Given the description of an element on the screen output the (x, y) to click on. 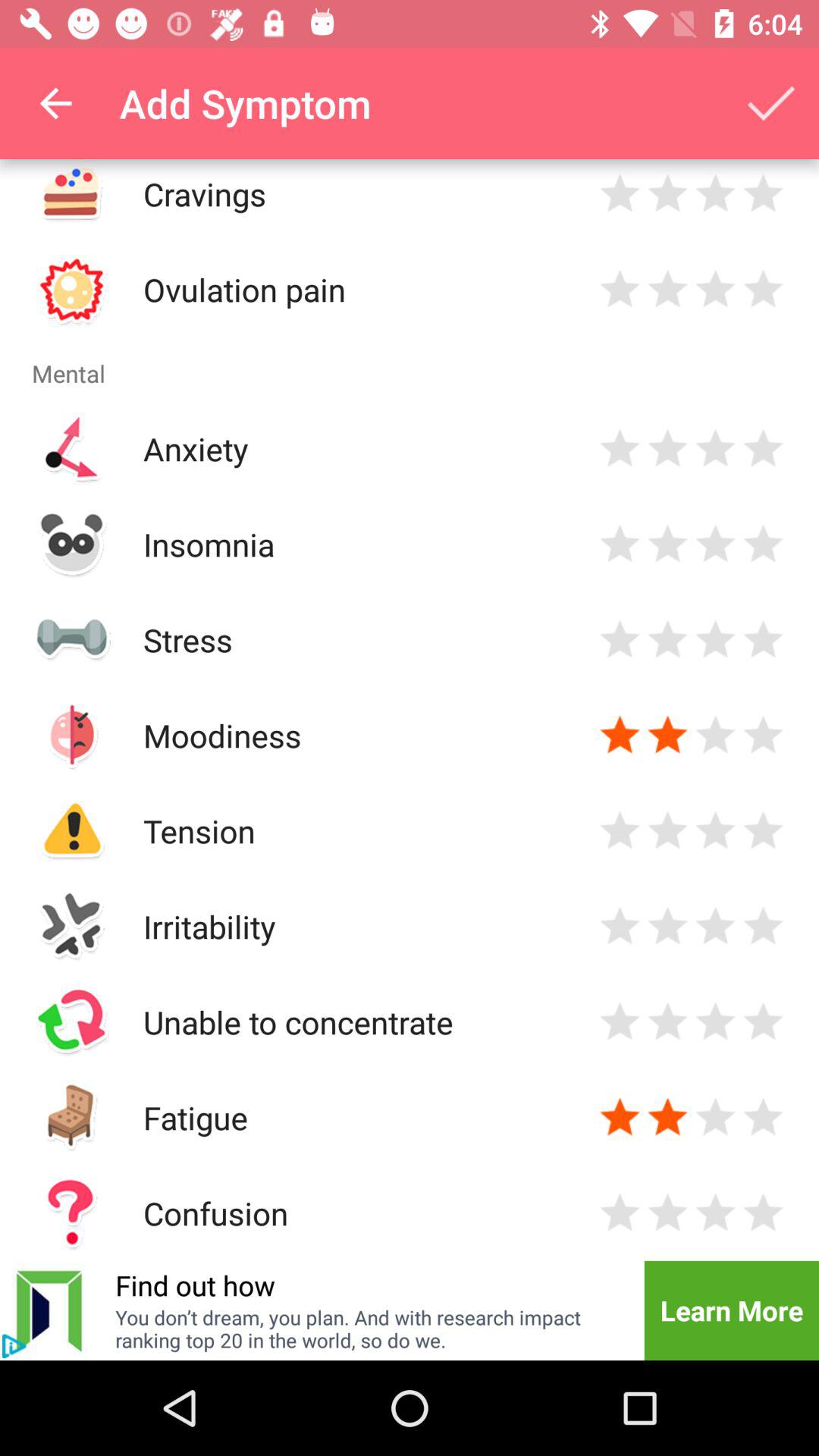
turn on the item to the left of the add symptom item (55, 103)
